Given the description of an element on the screen output the (x, y) to click on. 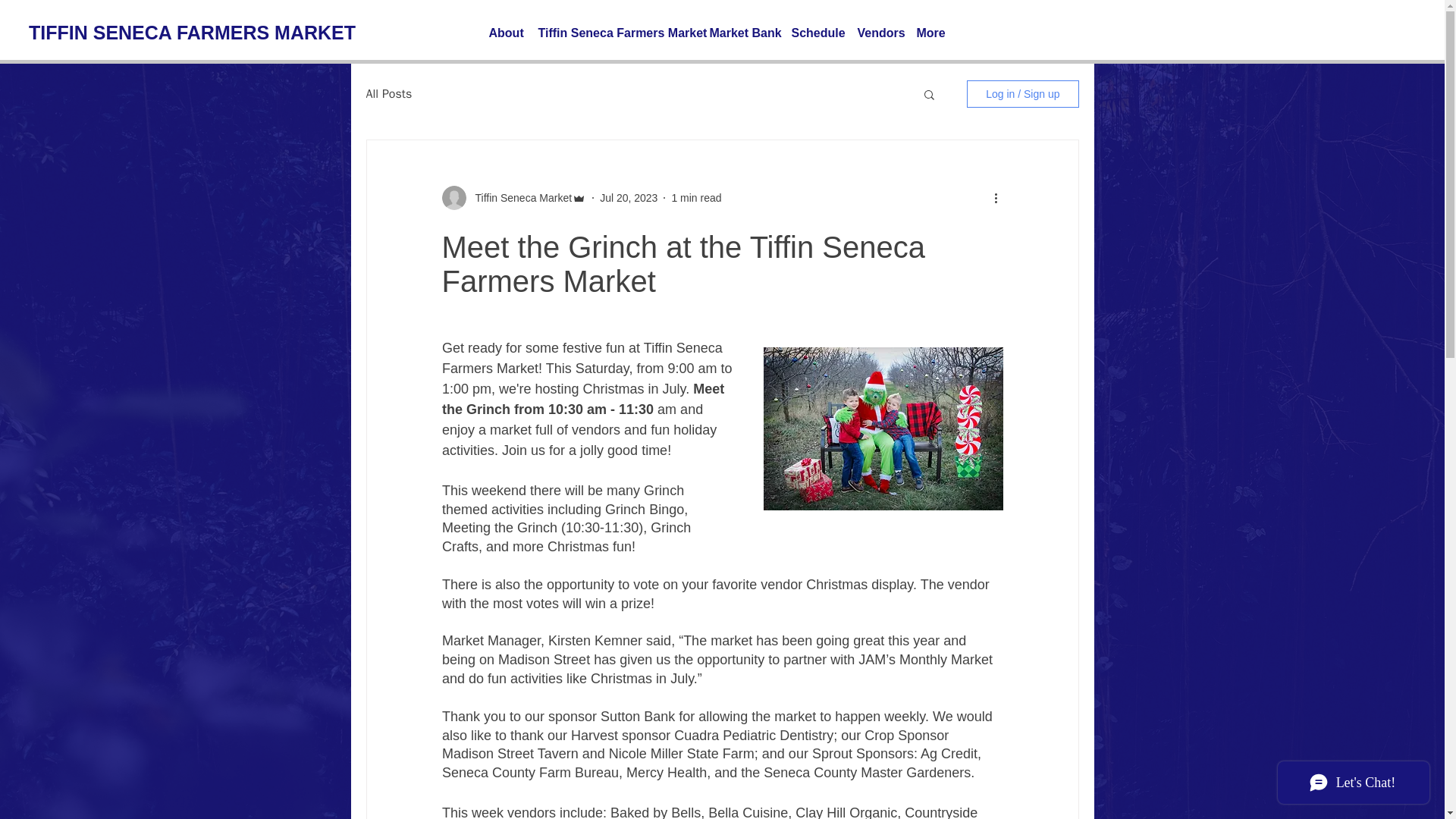
TIFFIN SENECA FARMERS MARKET (192, 32)
Market Bank (742, 33)
Tiffin Seneca Market (518, 197)
Schedule (817, 33)
1 min read (695, 196)
Tiffin Seneca Farmers Market (616, 33)
About (504, 33)
Vendors (878, 33)
All Posts (388, 94)
Jul 20, 2023 (628, 196)
